Given the description of an element on the screen output the (x, y) to click on. 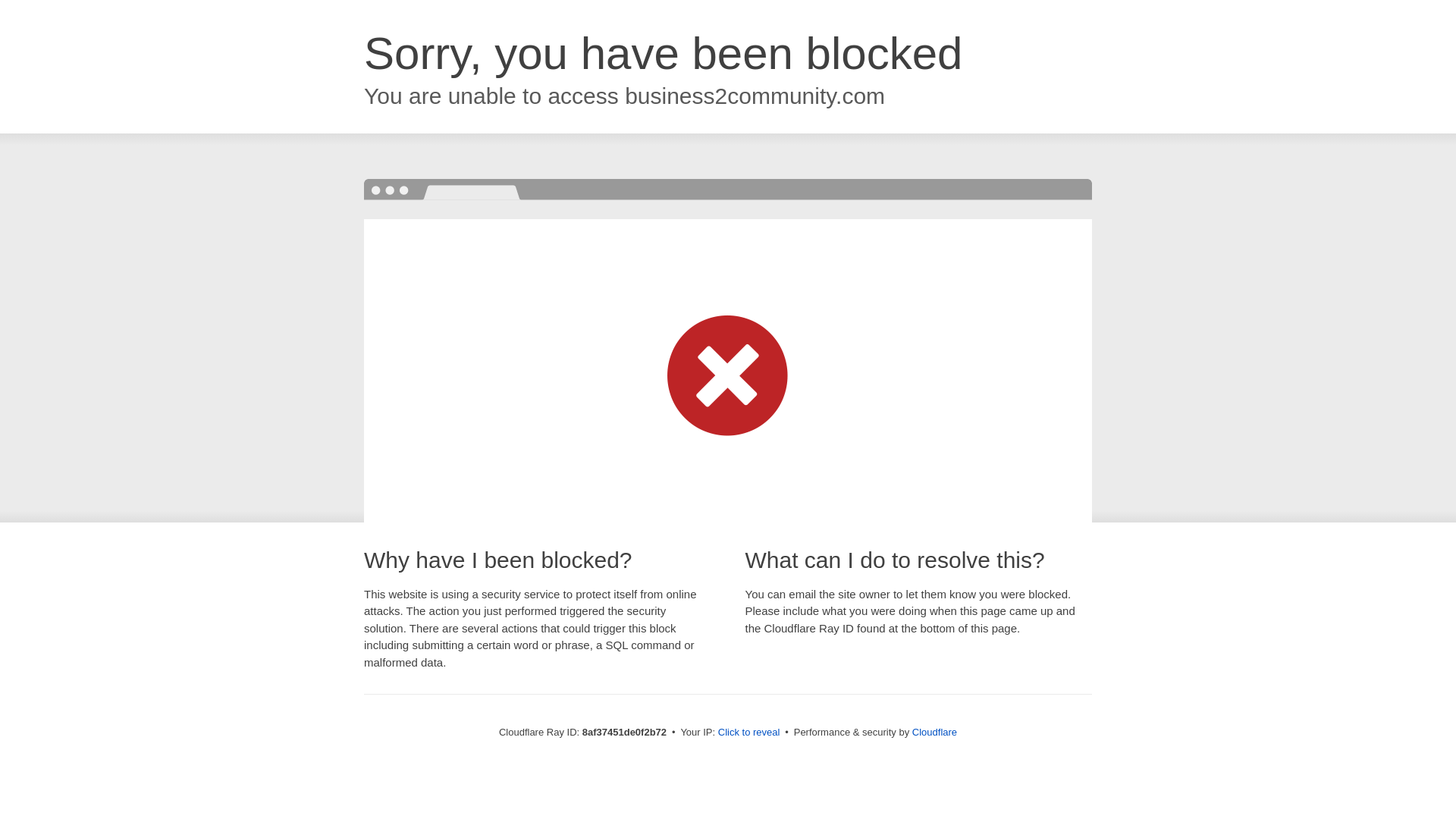
Click to reveal (748, 732)
Cloudflare (934, 731)
